Given the description of an element on the screen output the (x, y) to click on. 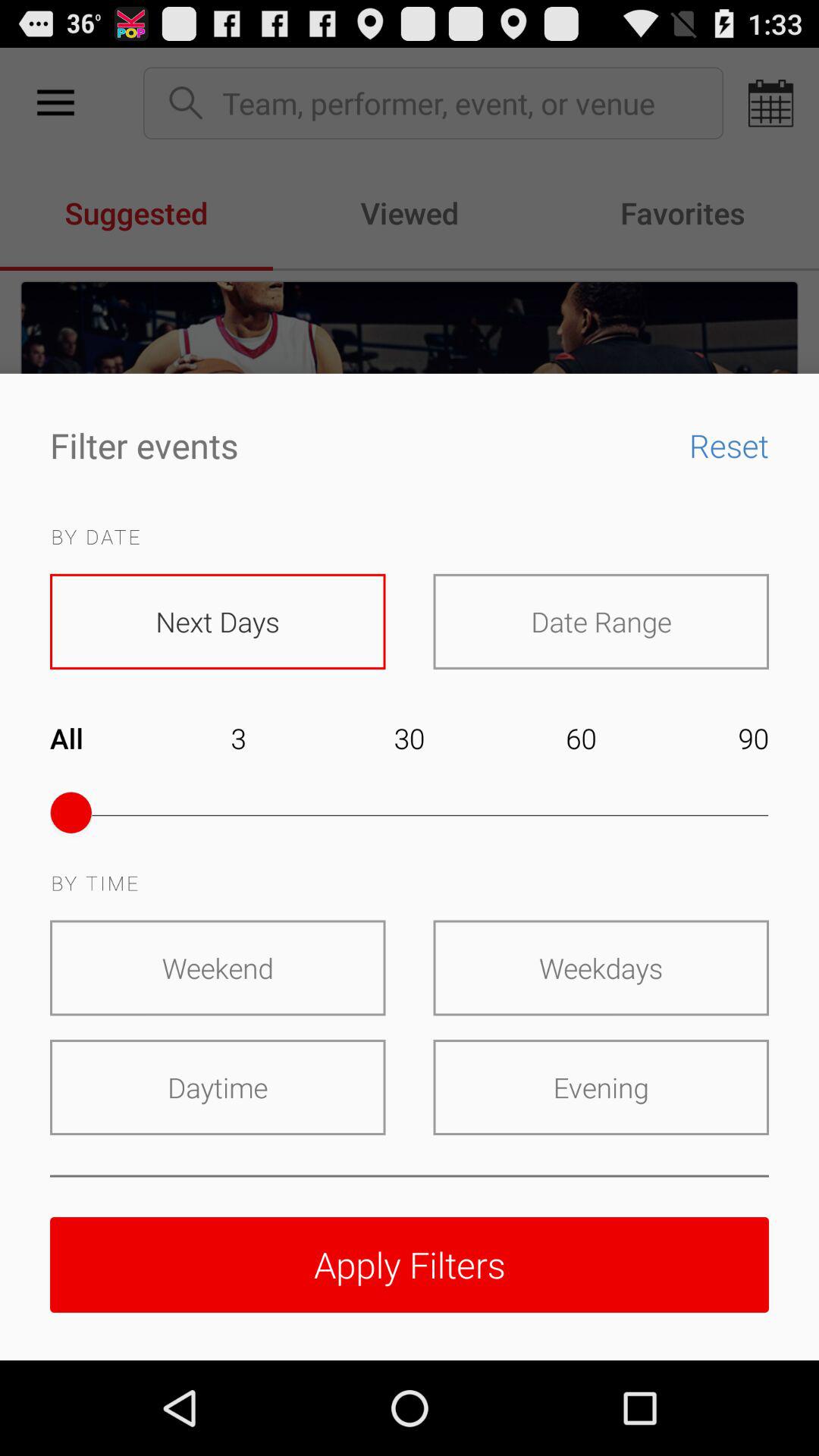
click the icon to the right of the daytime item (600, 1087)
